Given the description of an element on the screen output the (x, y) to click on. 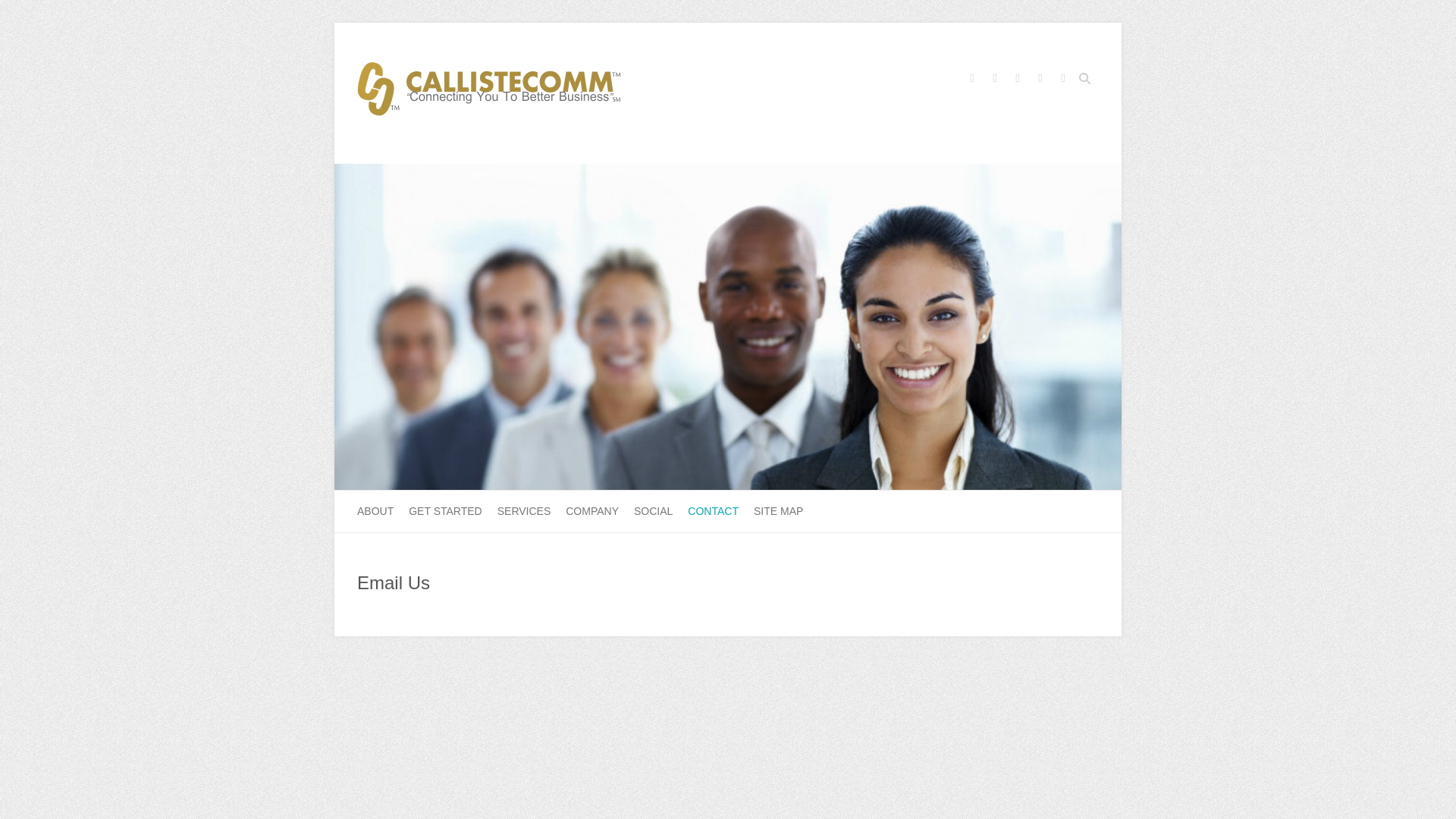
Callistecomm on Youtube (1040, 79)
Callistecomm (727, 170)
SOCIAL (652, 511)
Callistecomm on Facebook (972, 79)
Callistecomm Twitter (995, 79)
Callistecomm Youtube (1040, 79)
CONTACT (712, 511)
GET STARTED (445, 511)
SITE MAP (778, 511)
COMPANY (592, 511)
Callistecomm (488, 93)
Callistecomm on LinkedIn (1062, 79)
Callistecomm LinkedIn (1062, 79)
Callistecomm Google Plus (1017, 79)
Callistecomm Facebook (972, 79)
